Given the description of an element on the screen output the (x, y) to click on. 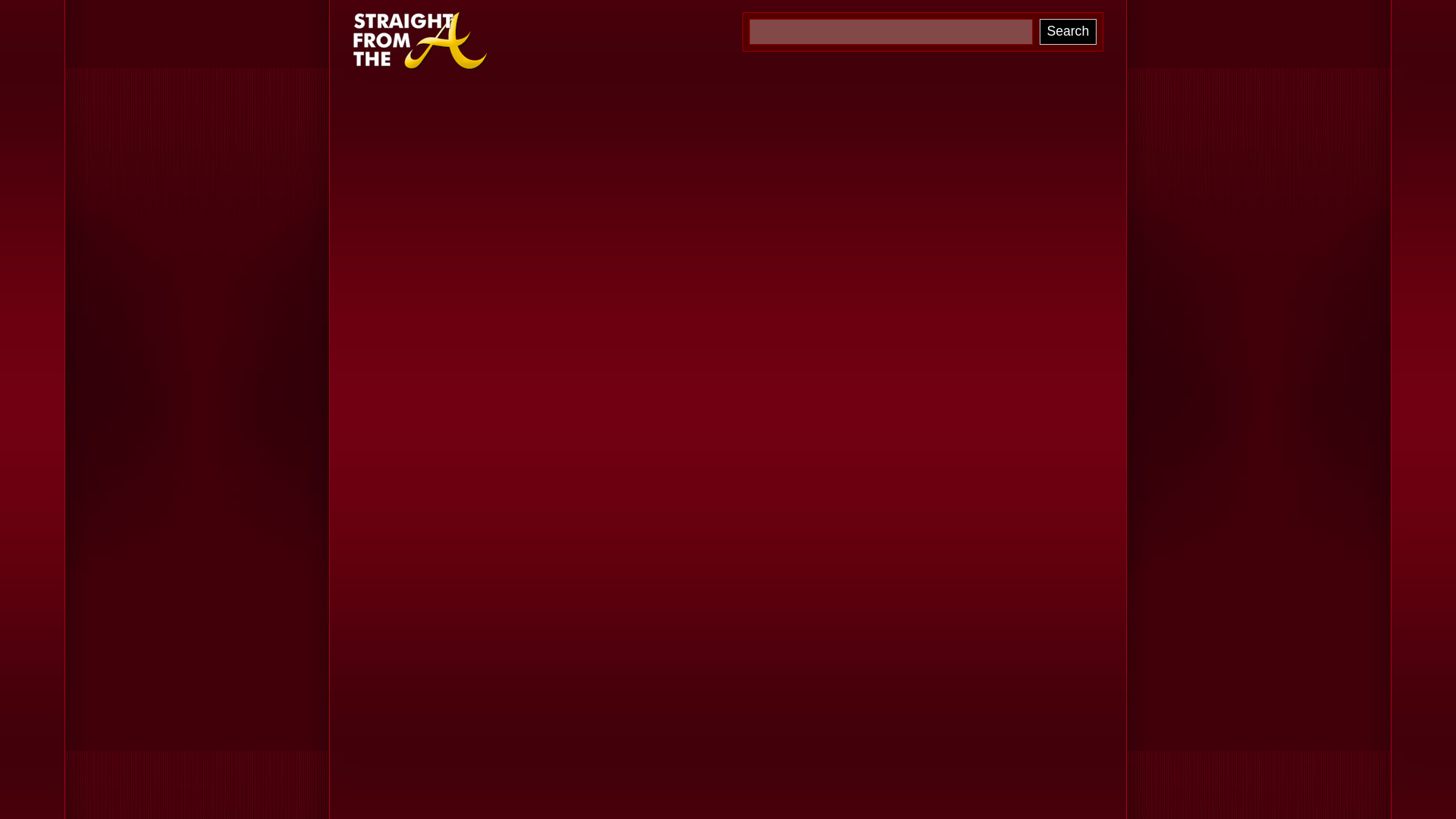
Search (1067, 31)
Search (1067, 31)
